Given the description of an element on the screen output the (x, y) to click on. 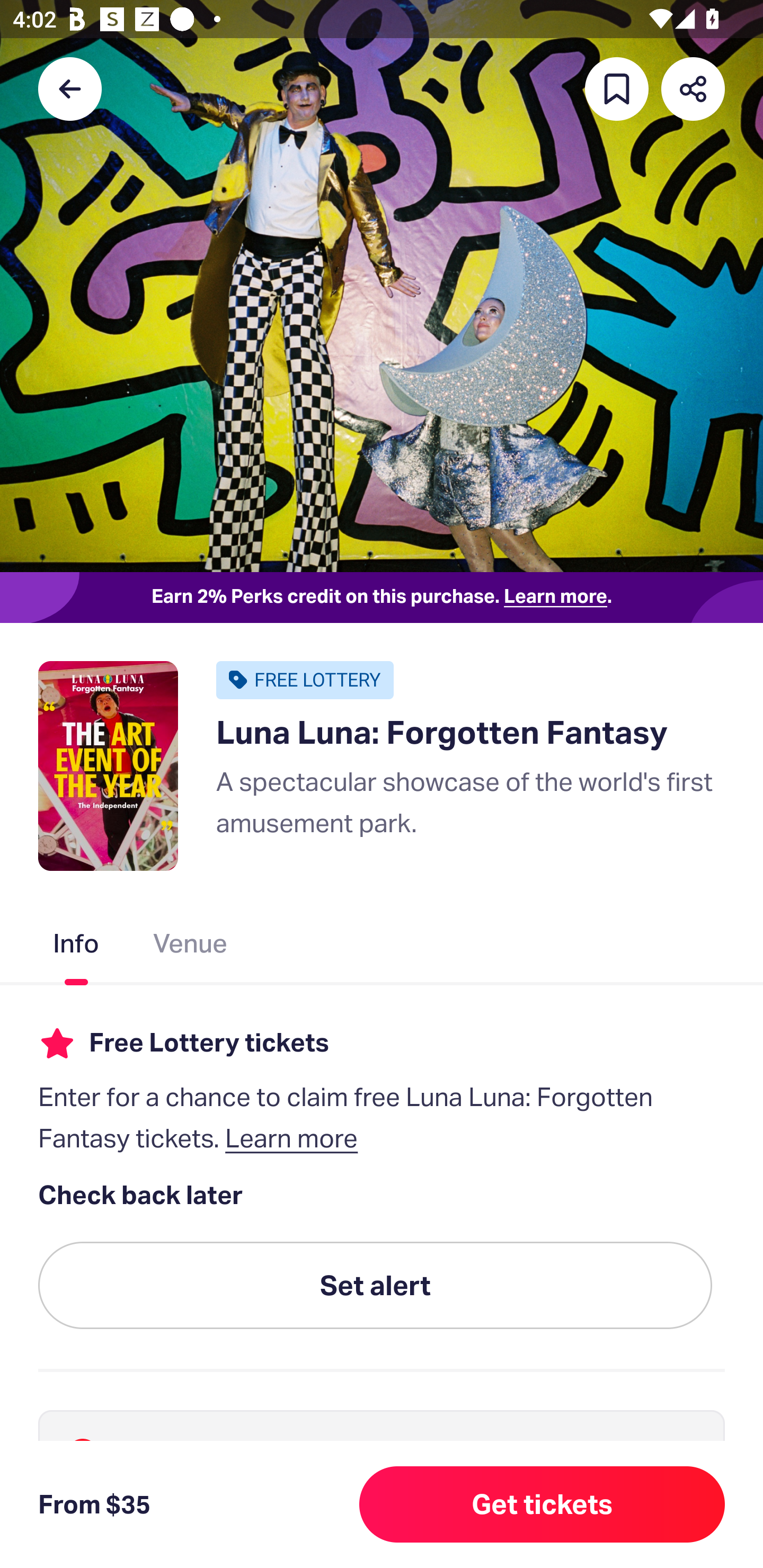
Earn 2% Perks credit on this purchase. Learn more. (381, 597)
Venue (190, 946)
Set alert (374, 1286)
Get tickets (541, 1504)
